Given the description of an element on the screen output the (x, y) to click on. 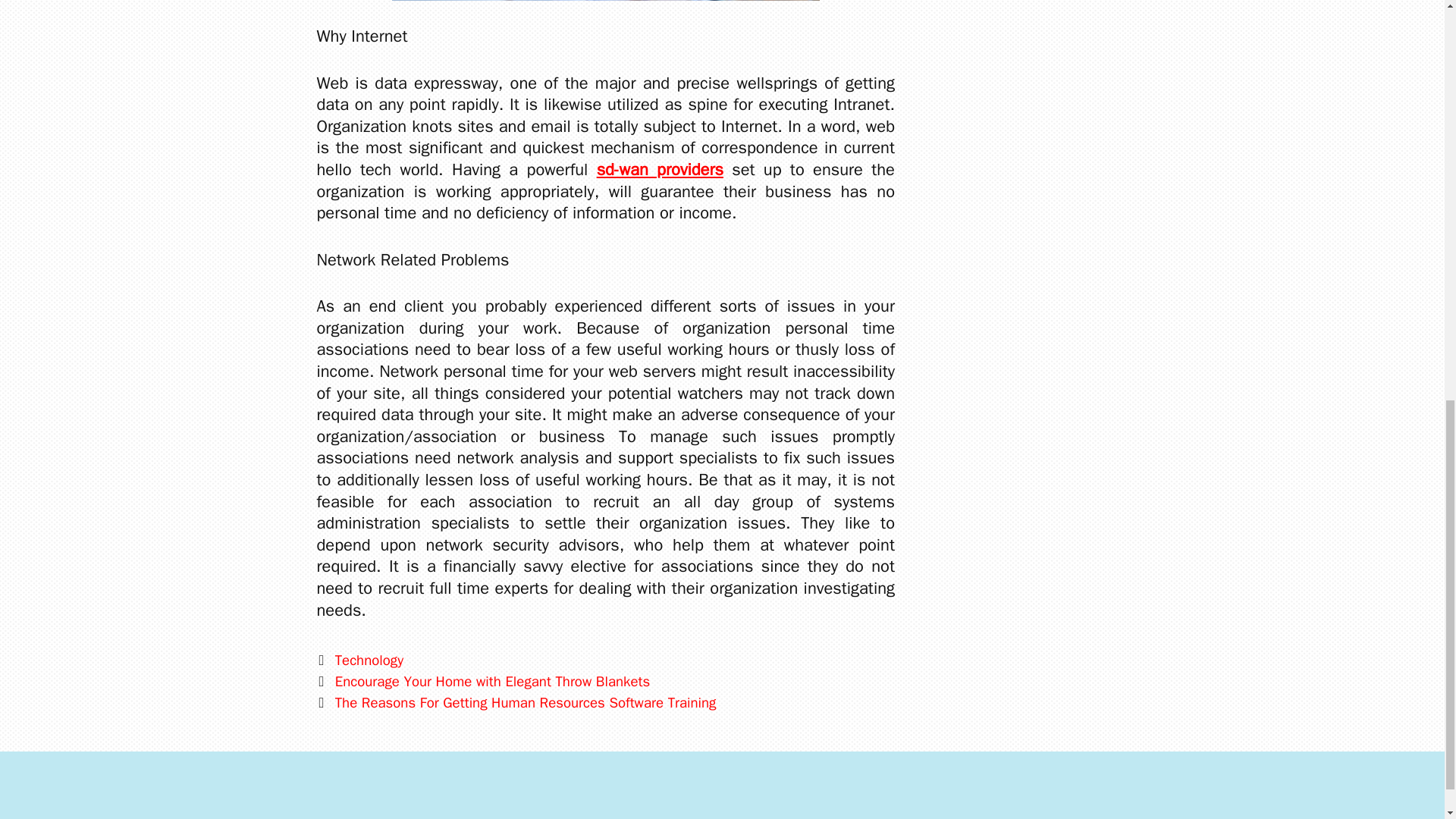
Next (516, 702)
sd-wan providers (659, 169)
Encourage Your Home with Elegant Throw Blankets (491, 681)
Previous (483, 681)
Technology (368, 660)
The Reasons For Getting Human Resources Software Training (525, 702)
